Given the description of an element on the screen output the (x, y) to click on. 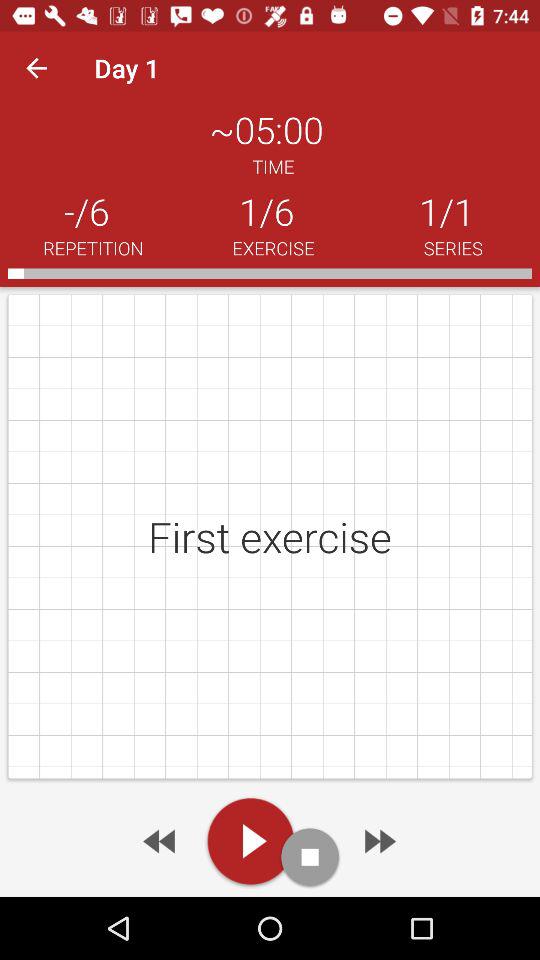
go back to the previous page (161, 841)
